Given the description of an element on the screen output the (x, y) to click on. 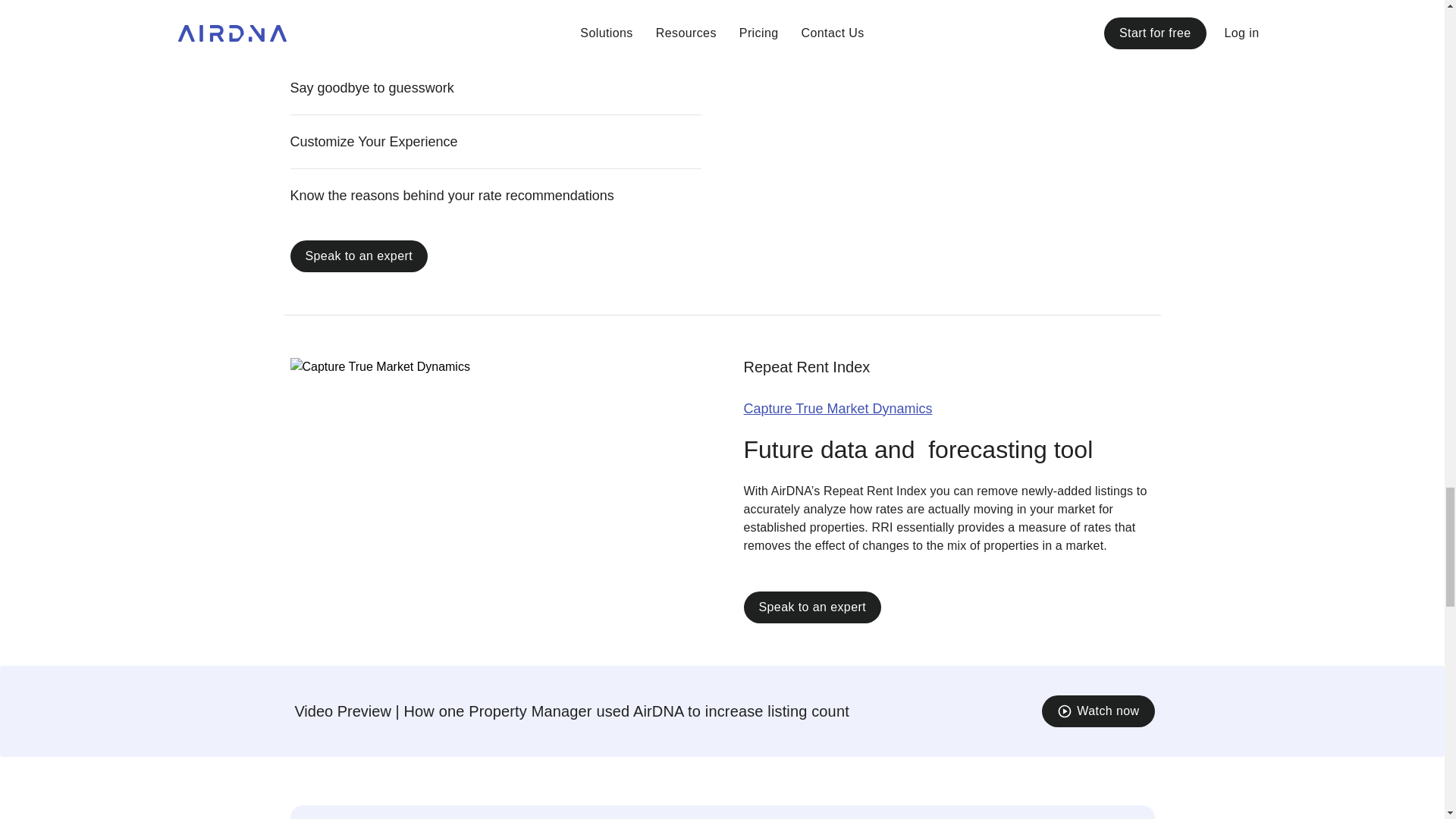
Speak to an expert (811, 607)
Speak to an expert (358, 255)
Watch now (1098, 710)
